Given the description of an element on the screen output the (x, y) to click on. 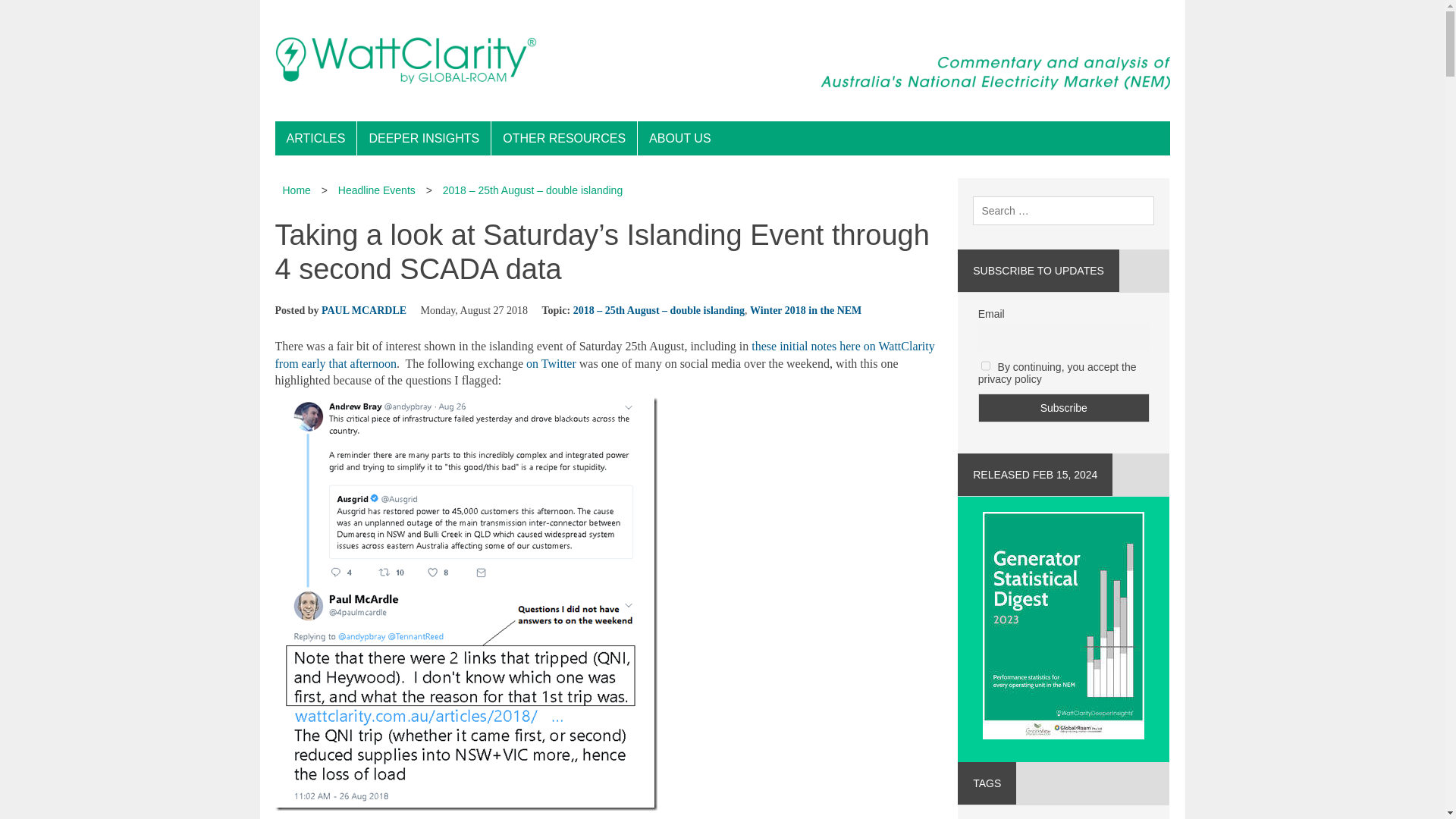
WattClarity (722, 60)
Home (296, 190)
on (985, 366)
OTHER RESOURCES (564, 138)
Winter 2018 in the NEM (805, 310)
Subscribe (1064, 407)
PAUL MCARDLE (363, 310)
ARTICLES (315, 138)
DEEPER INSIGHTS (423, 138)
Headline Events (376, 190)
on Twitter (550, 363)
ABOUT US (679, 138)
